Given the description of an element on the screen output the (x, y) to click on. 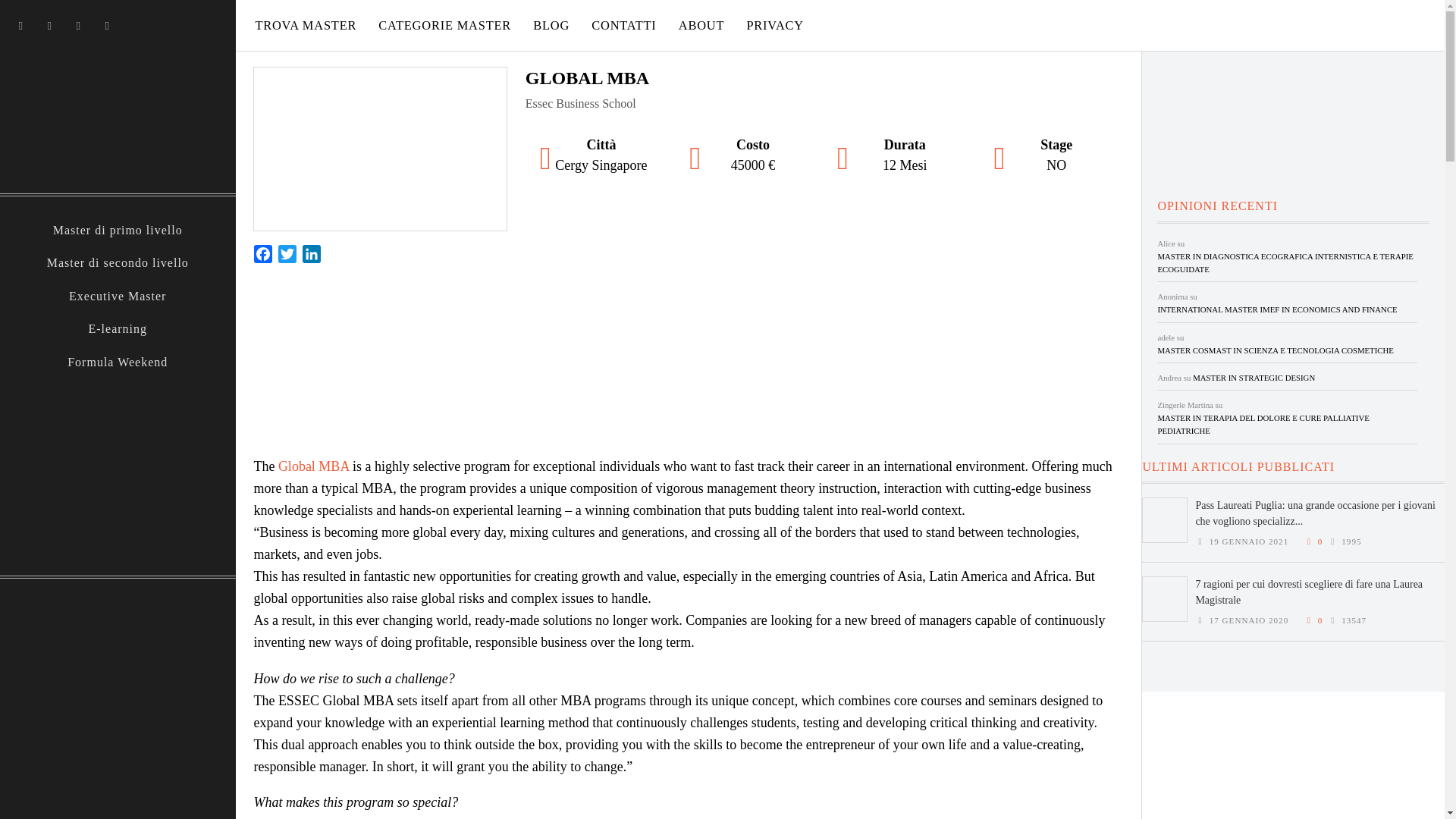
Formula Weekend (117, 362)
Facebook (46, 24)
ESSEC (688, 358)
E-learning (117, 329)
CATEGORIE MASTER (444, 25)
TROVA MASTER (304, 25)
Facebook (262, 256)
LinkedIn (310, 256)
Executive Master (117, 296)
Twitter (286, 256)
Master di primo livello (117, 230)
RSS (104, 24)
Master di secondo livello (117, 262)
Twitter (18, 24)
